Given the description of an element on the screen output the (x, y) to click on. 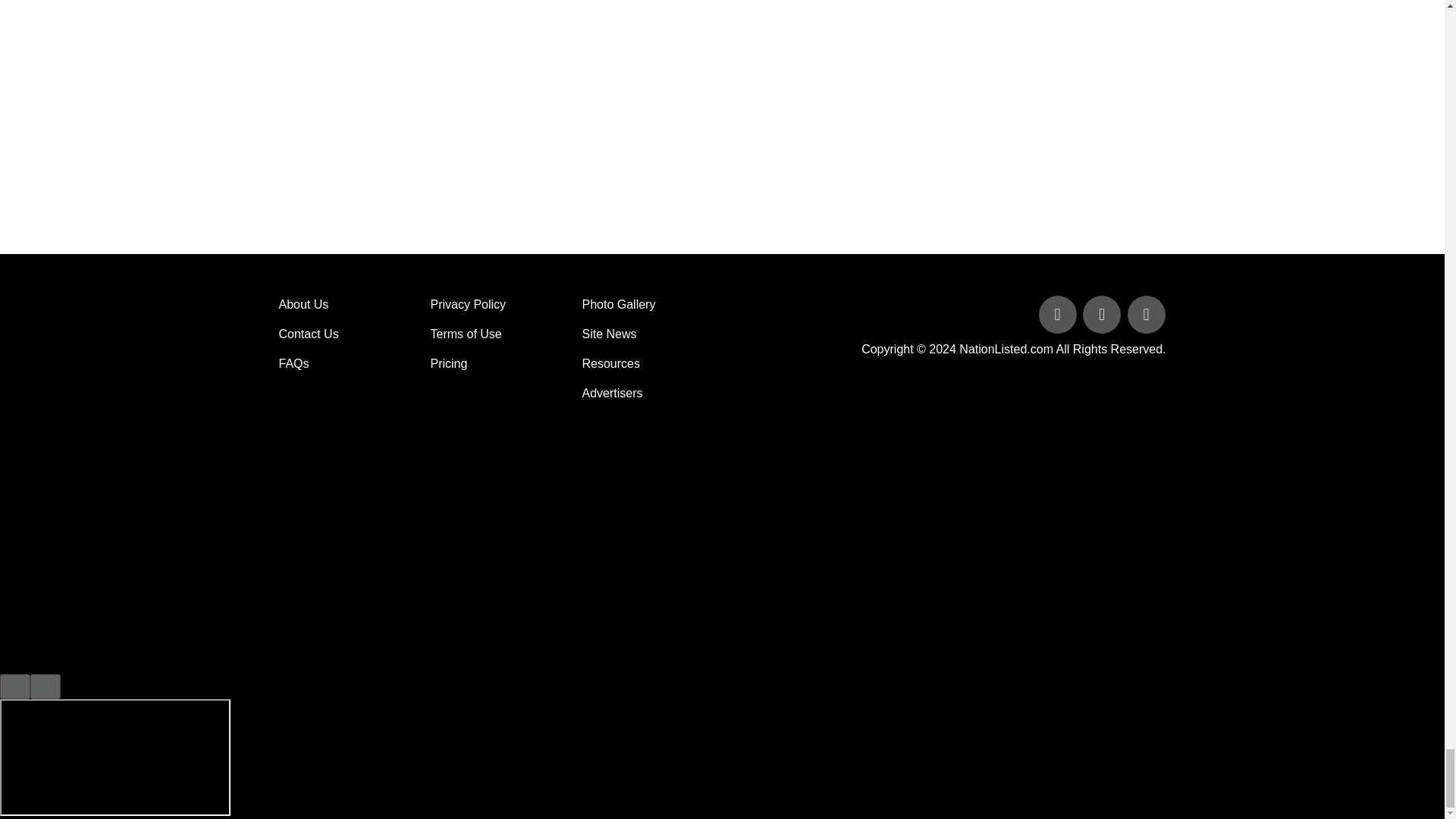
Follow Us on Facebook (1058, 315)
Follow Us on Linked In (1145, 315)
Follow Us on Twitter (1103, 315)
